Given the description of an element on the screen output the (x, y) to click on. 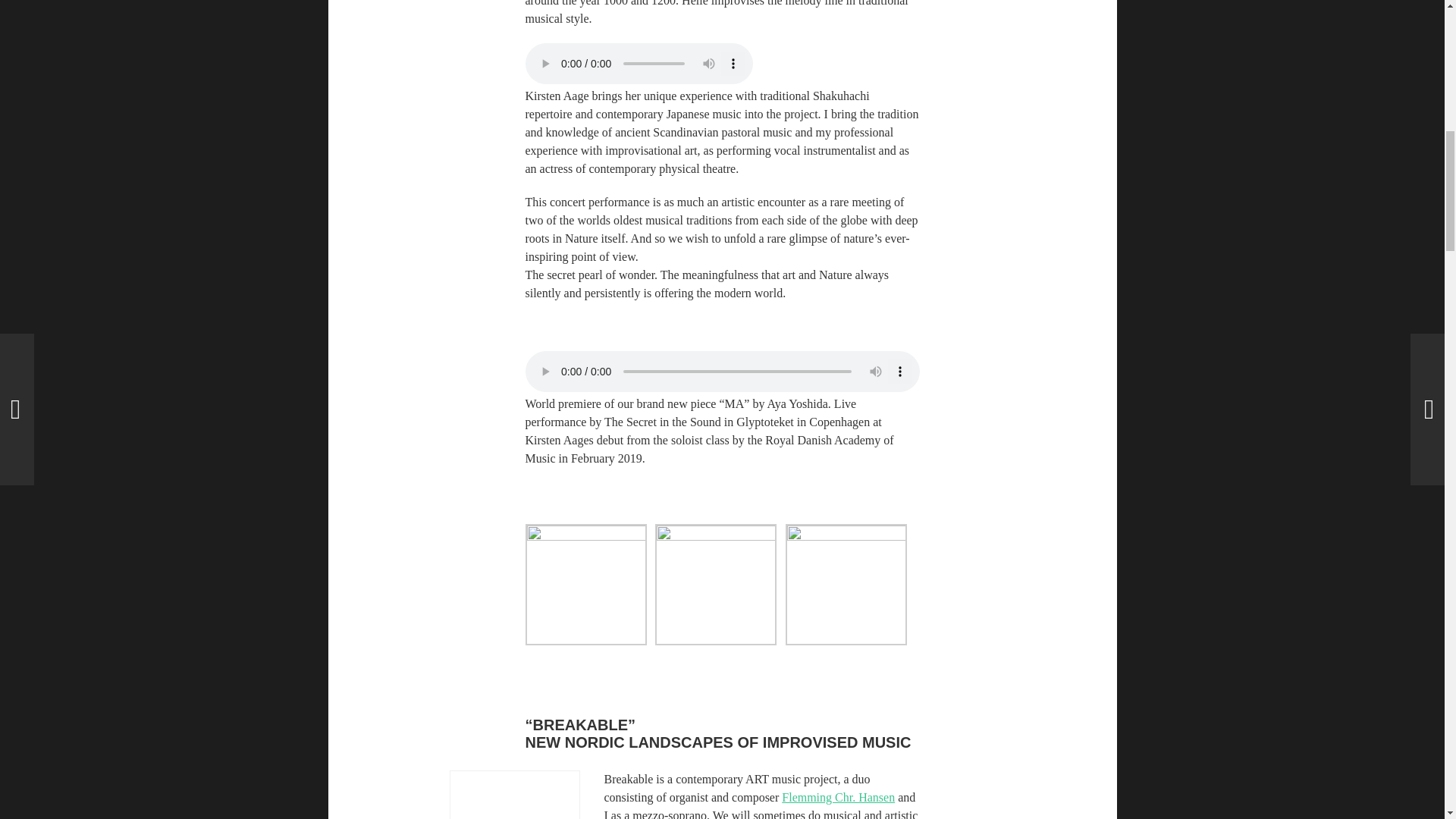
Flemming Chr. Hansen (838, 797)
